Given the description of an element on the screen output the (x, y) to click on. 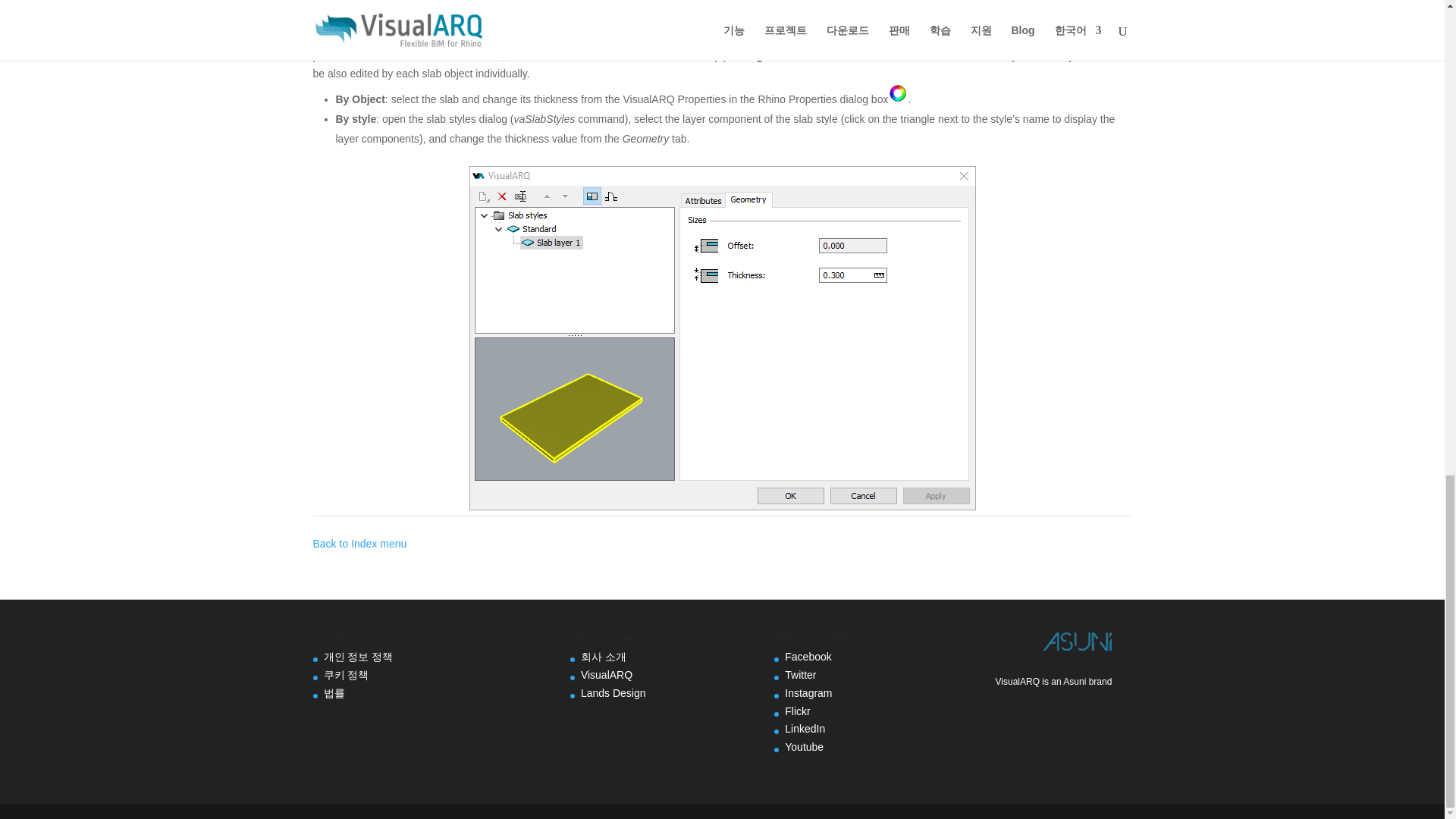
Lands Design (613, 693)
Twitter (799, 674)
Facebook (807, 656)
Instagram (807, 693)
Flickr (796, 711)
Back to Index menu (359, 543)
VisualARQ (605, 674)
